Given the description of an element on the screen output the (x, y) to click on. 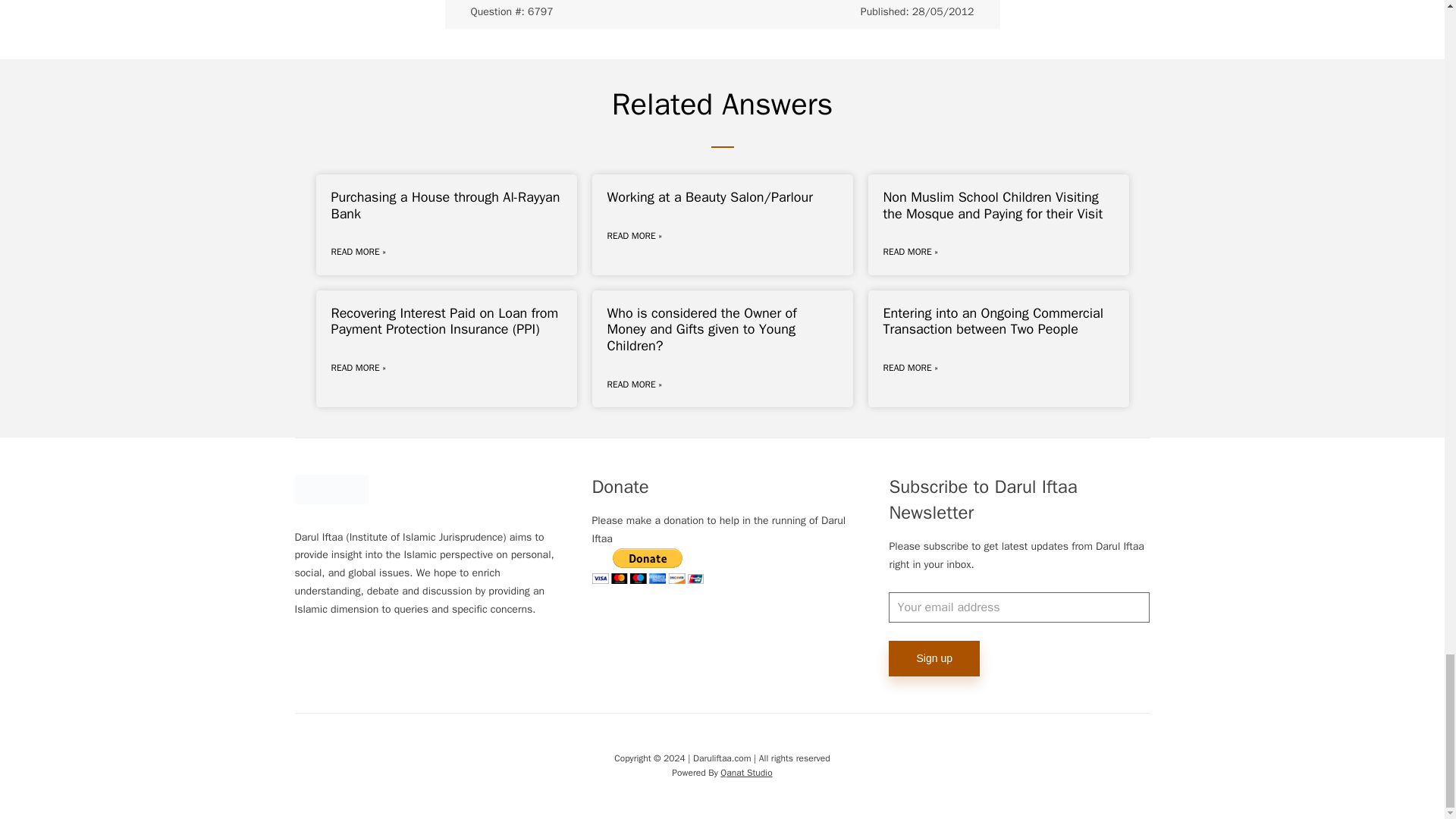
Sign up (933, 658)
Purchasing a House through Al-Rayyan Bank (444, 205)
